Given the description of an element on the screen output the (x, y) to click on. 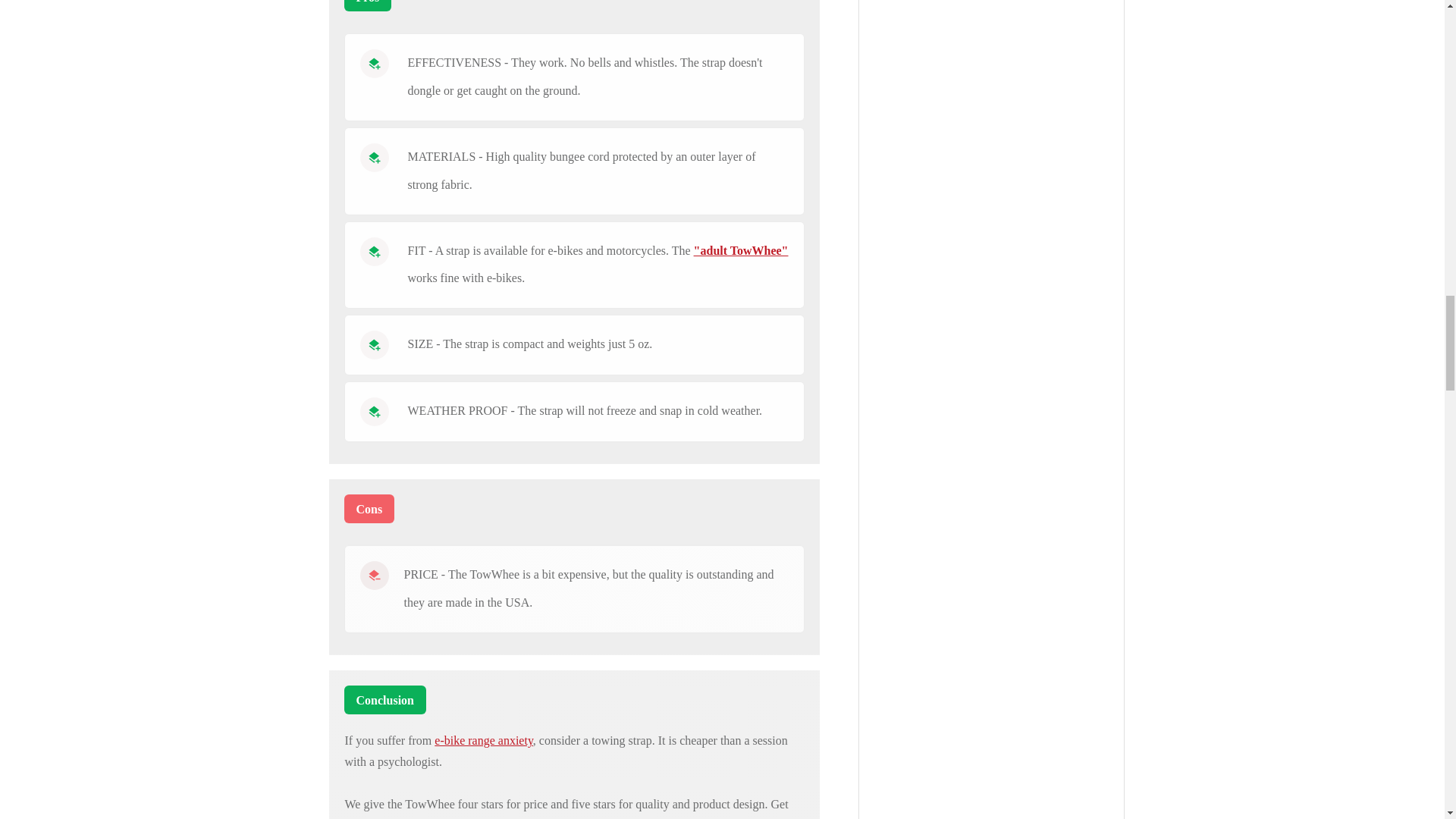
e-bike range anxiety (482, 739)
"adult TowWhee" (741, 250)
